Given the description of an element on the screen output the (x, y) to click on. 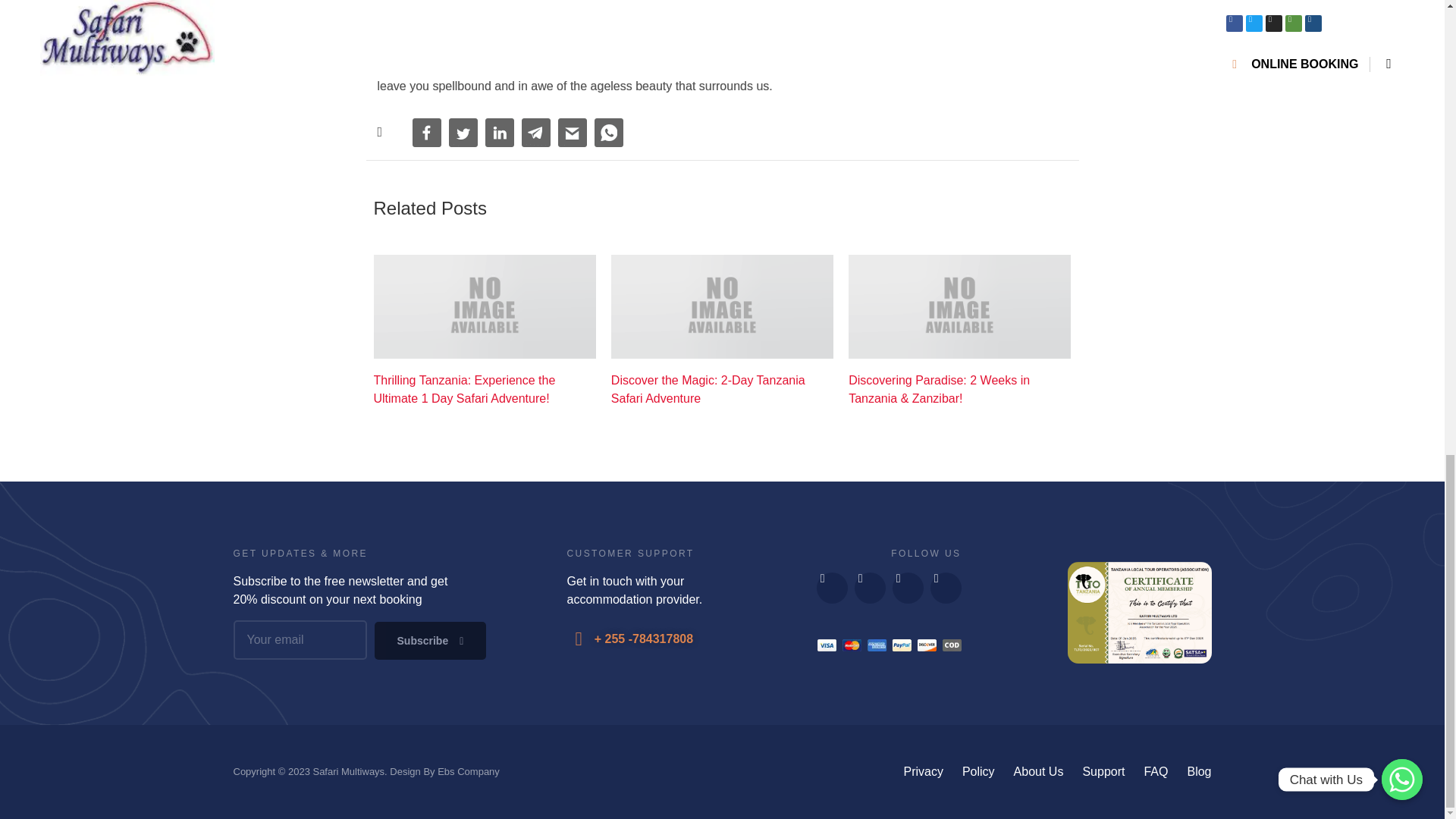
Discover the Magic: 2-Day Tanzania Safari Adventure (721, 389)
Subscribe (430, 640)
